Given the description of an element on the screen output the (x, y) to click on. 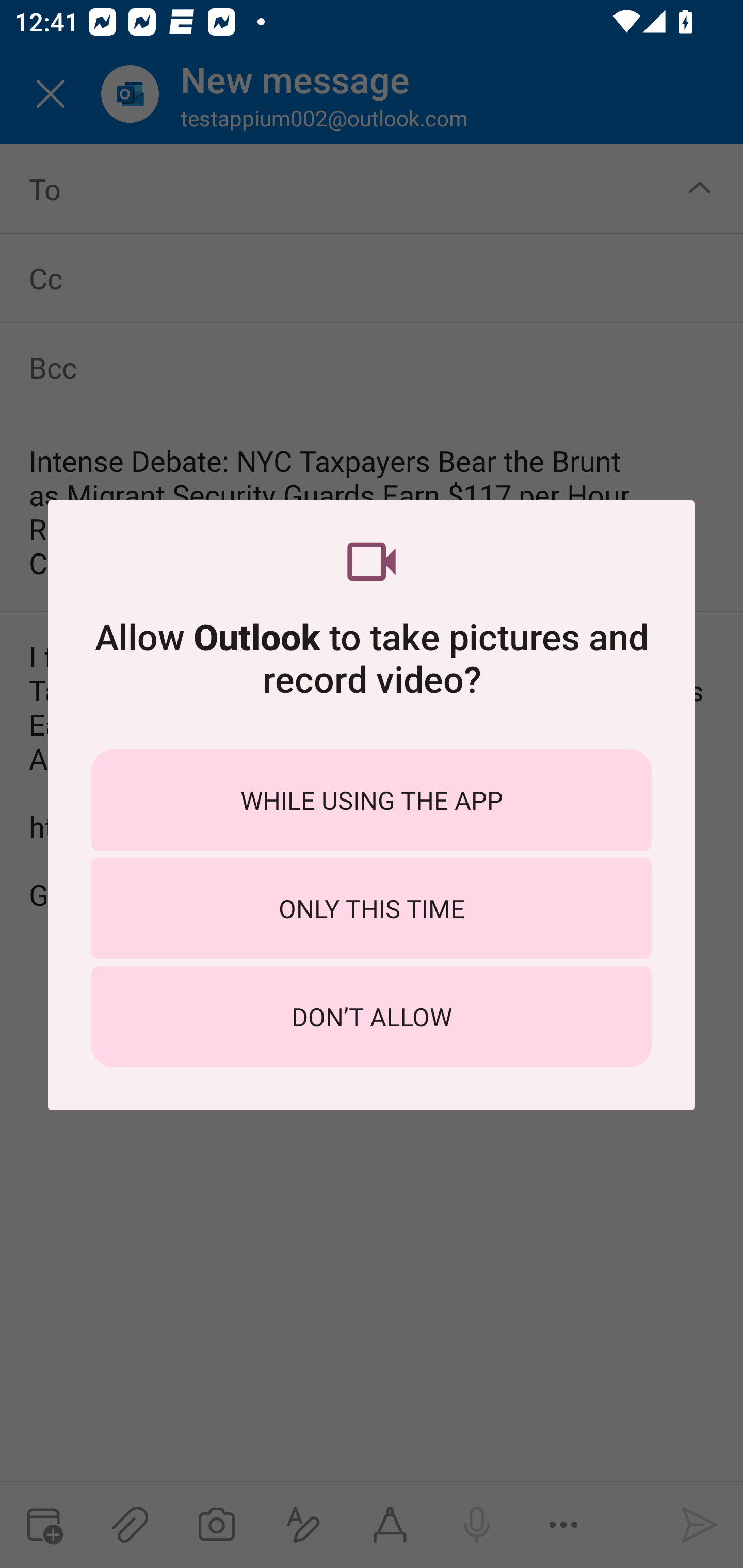
WHILE USING THE APP (371, 799)
ONLY THIS TIME (371, 908)
DON’T ALLOW (371, 1016)
